Given the description of an element on the screen output the (x, y) to click on. 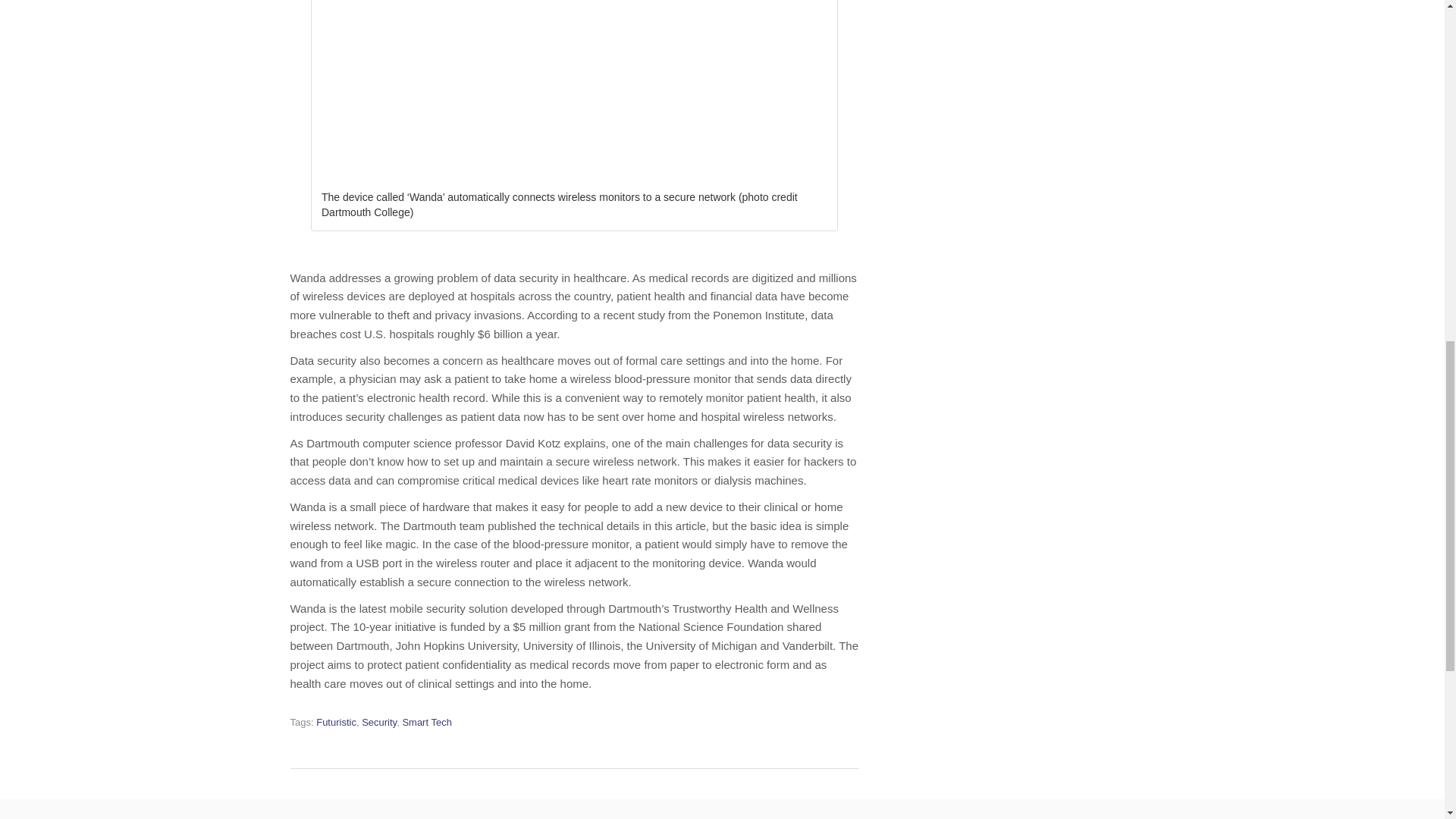
Security (378, 722)
Smart Tech (426, 722)
Futuristic (335, 722)
